Given the description of an element on the screen output the (x, y) to click on. 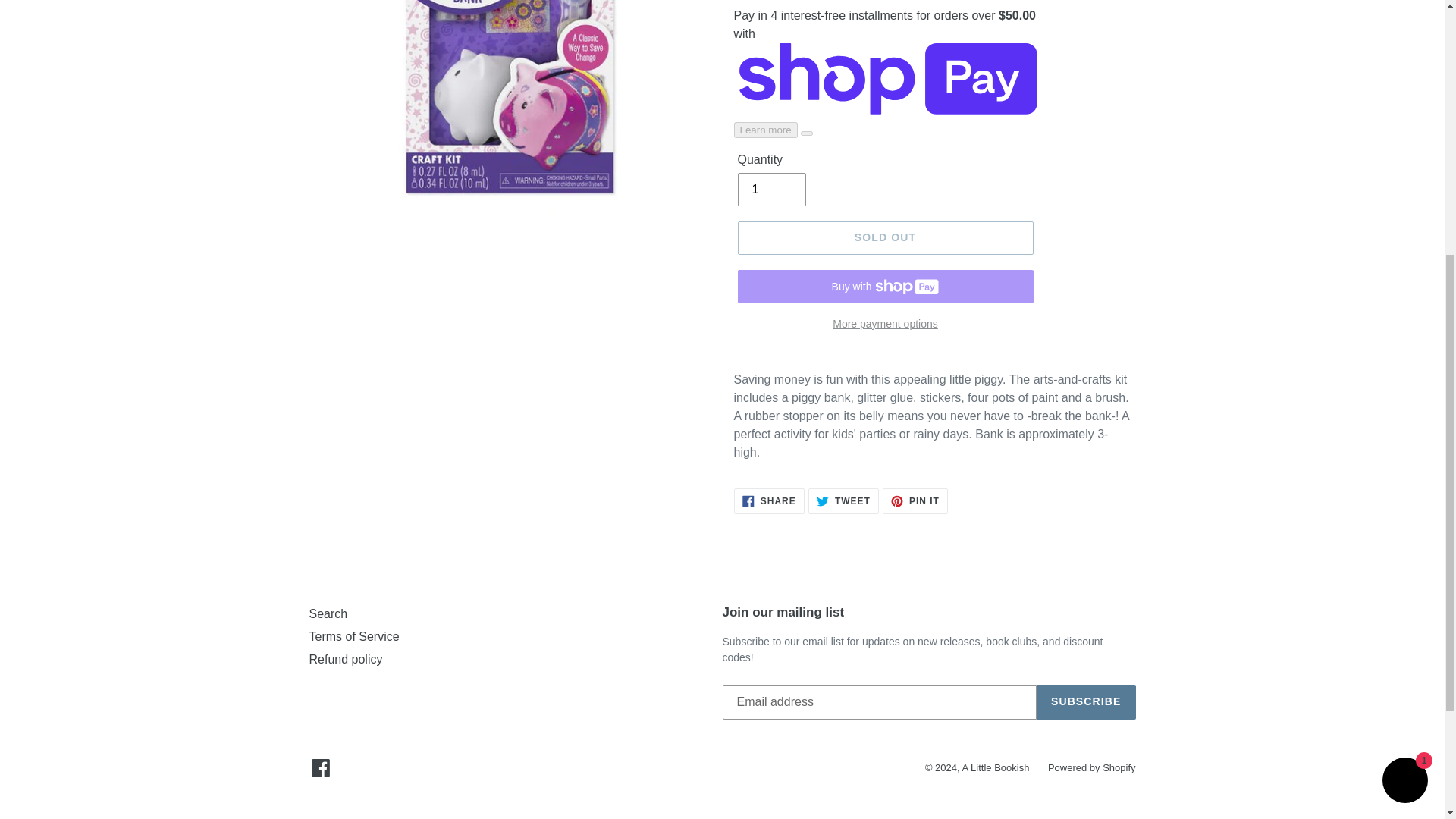
1 (769, 501)
More payment options (770, 189)
SOLD OUT (884, 323)
Shopify online store chat (884, 237)
Terms of Service (1404, 343)
SUBSCRIBE (353, 635)
Refund policy (1085, 701)
Search (914, 501)
Powered by Shopify (345, 658)
Facebook (327, 613)
A Little Bookish (1091, 767)
